Given the description of an element on the screen output the (x, y) to click on. 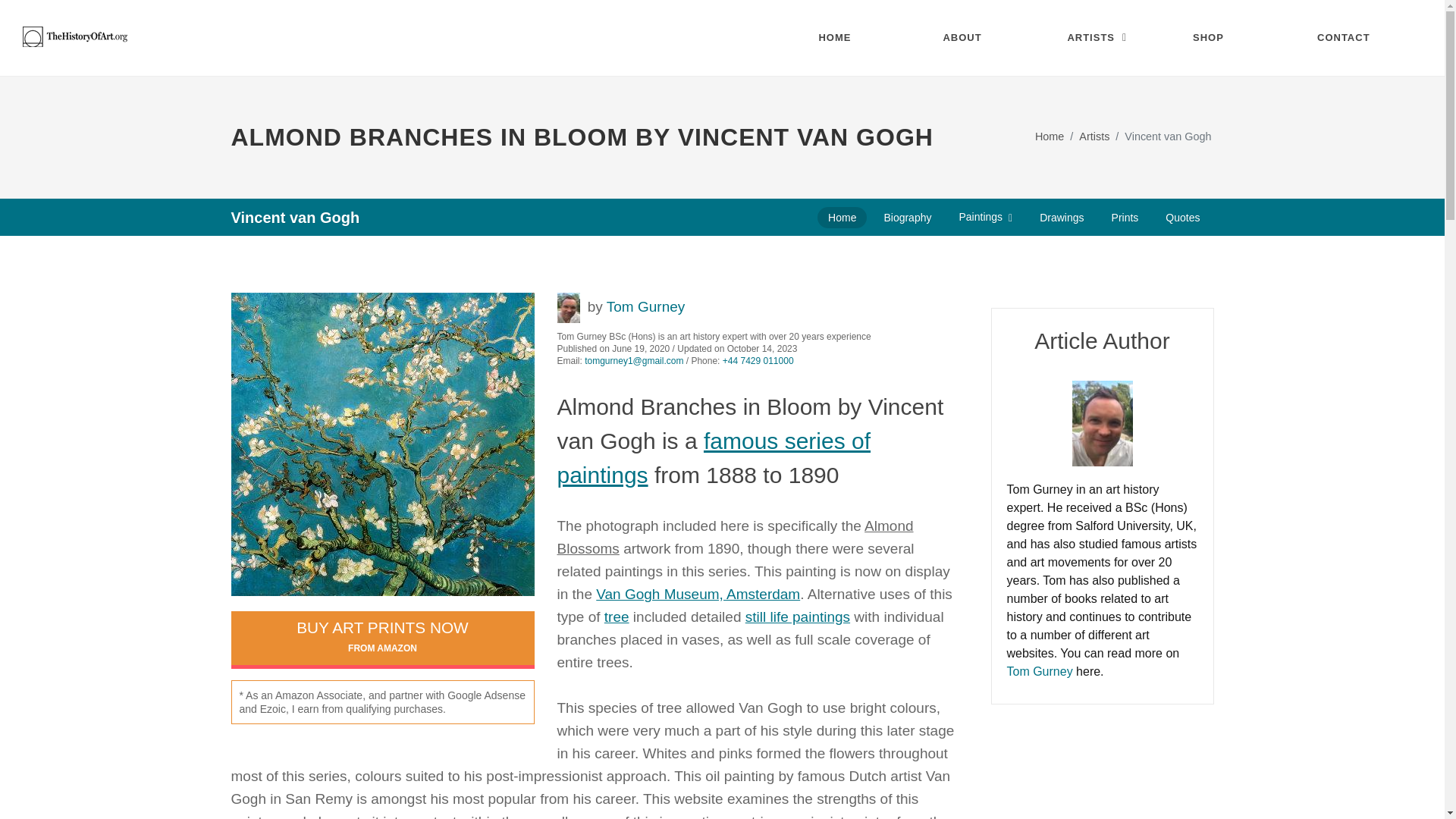
ABOUT (973, 38)
ARTISTS (1098, 38)
HOME (849, 38)
